Given the description of an element on the screen output the (x, y) to click on. 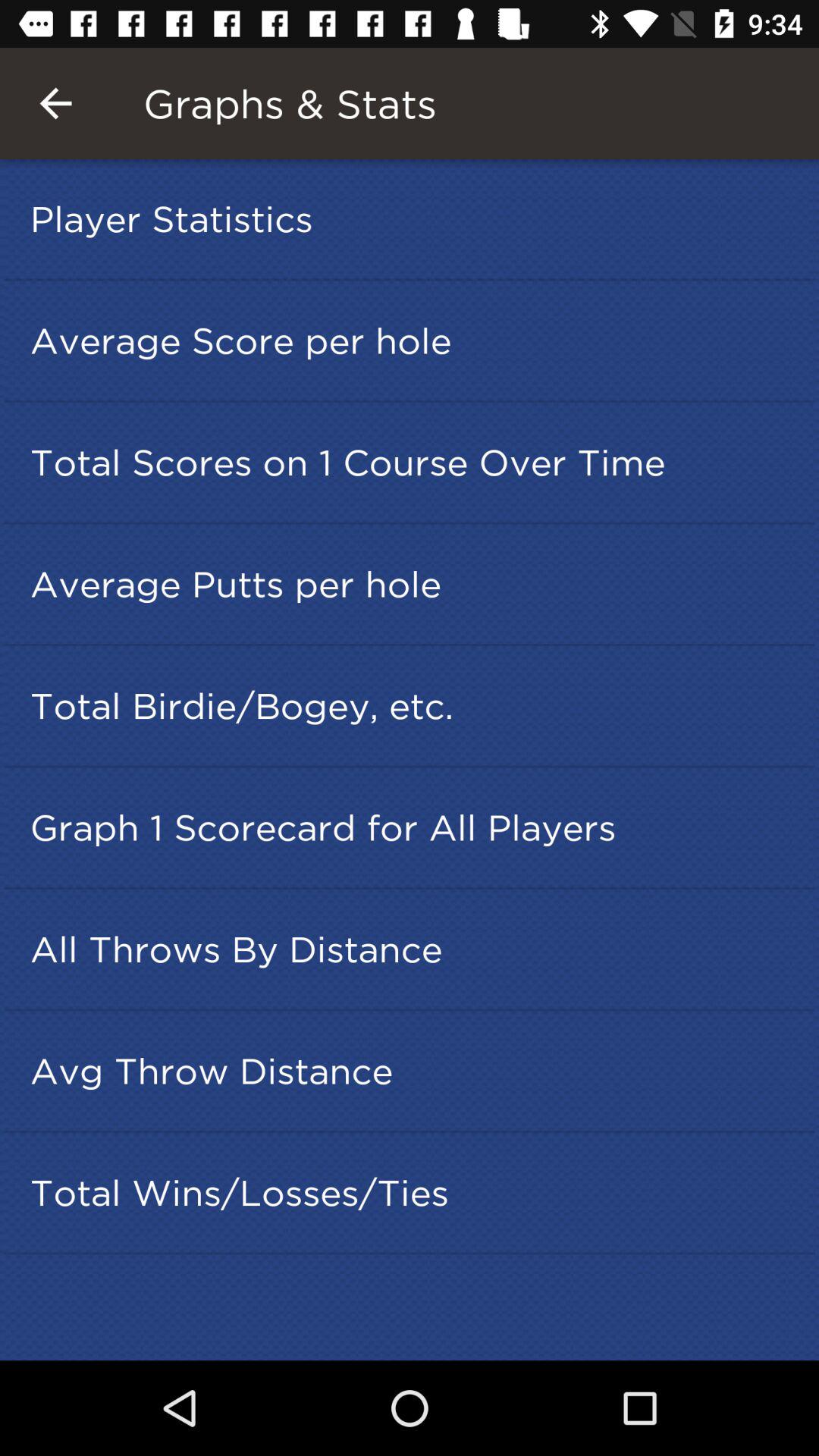
scroll to the total scores on (414, 462)
